Given the description of an element on the screen output the (x, y) to click on. 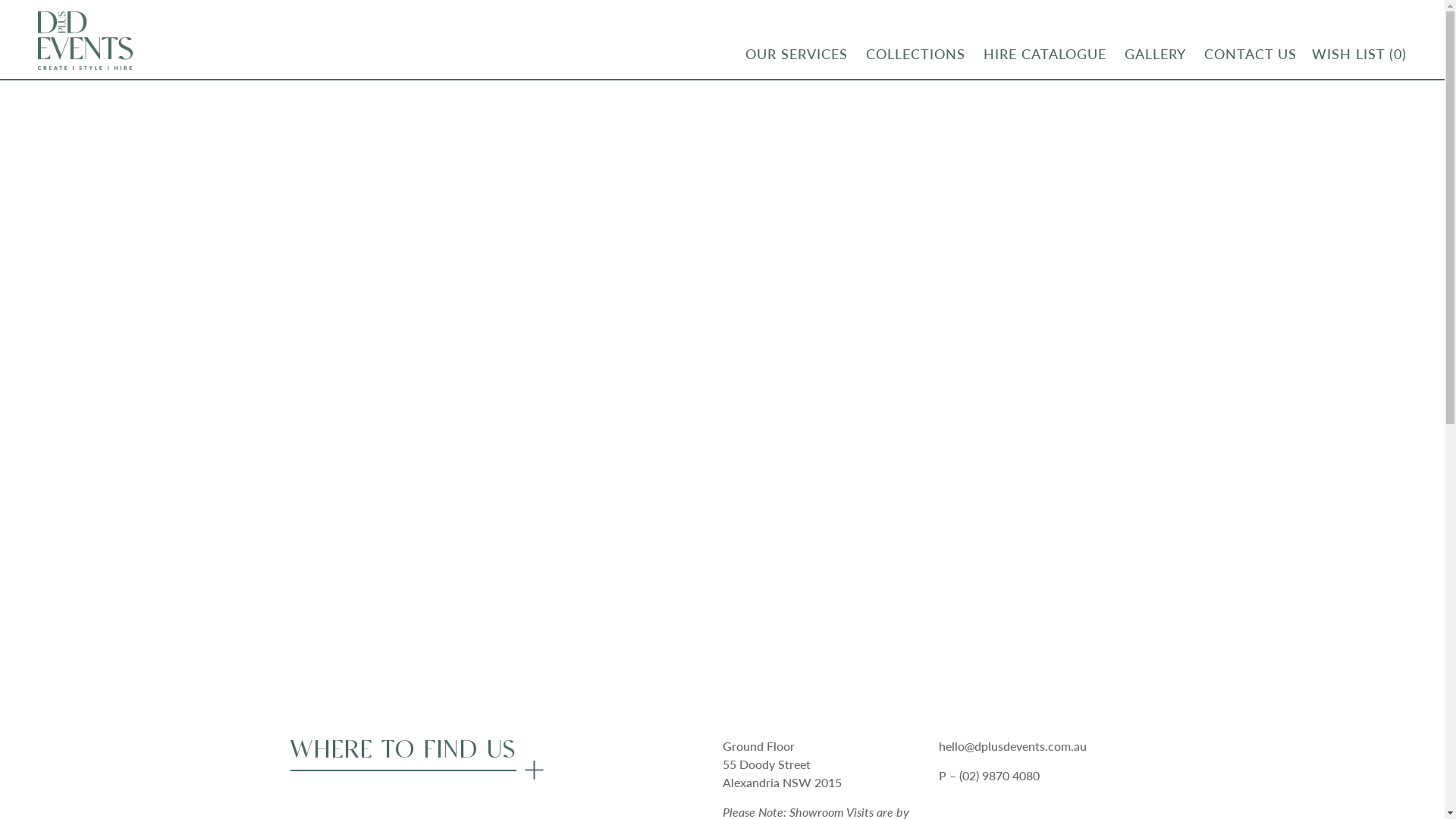
HIRE CATALOGUE Element type: text (1044, 53)
hello@dplusdevents.com.au Element type: text (1012, 745)
CONTACT US Element type: text (1250, 53)
Send Enquiry Element type: text (357, 592)
OUR SERVICES Element type: text (796, 53)
(02) 9870 4080 Element type: text (998, 775)
COLLECTIONS Element type: text (915, 53)
GALLERY Element type: text (1155, 53)
WISH LIST (0) Element type: text (1358, 53)
